Given the description of an element on the screen output the (x, y) to click on. 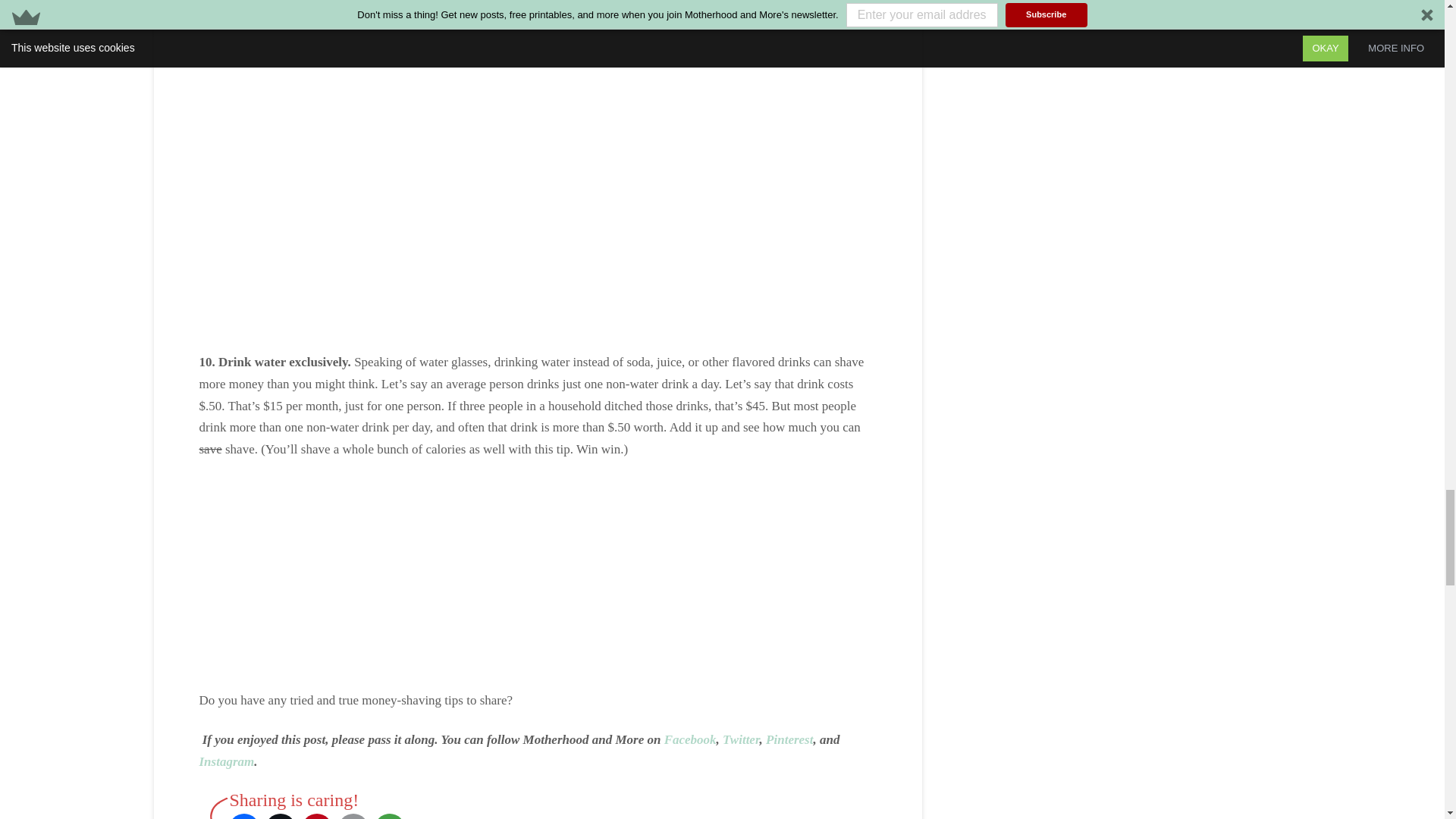
Pinterest (316, 814)
More Options (389, 814)
Email This (352, 814)
Facebook (243, 814)
